Given the description of an element on the screen output the (x, y) to click on. 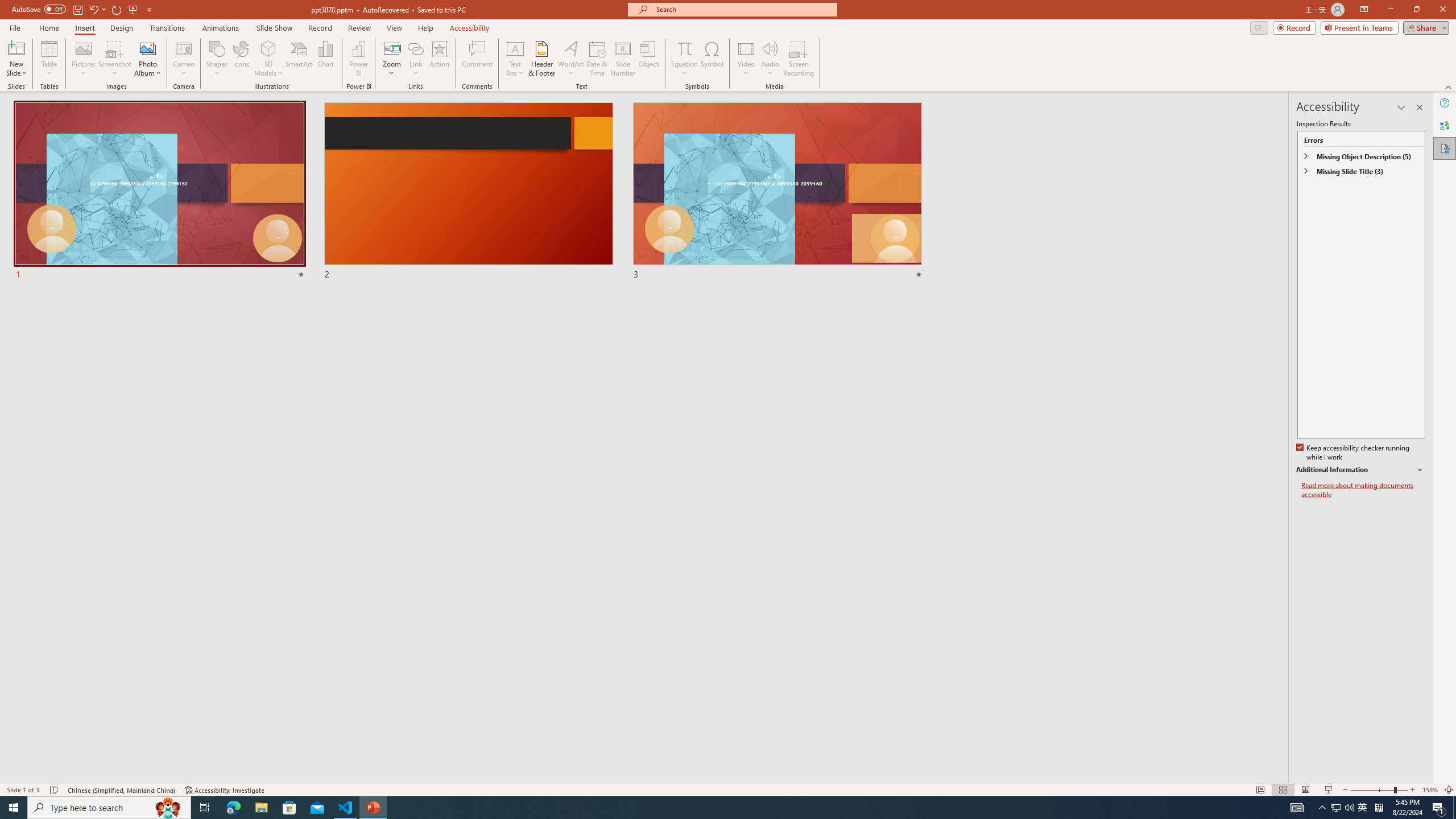
WordArt (570, 58)
